Given the description of an element on the screen output the (x, y) to click on. 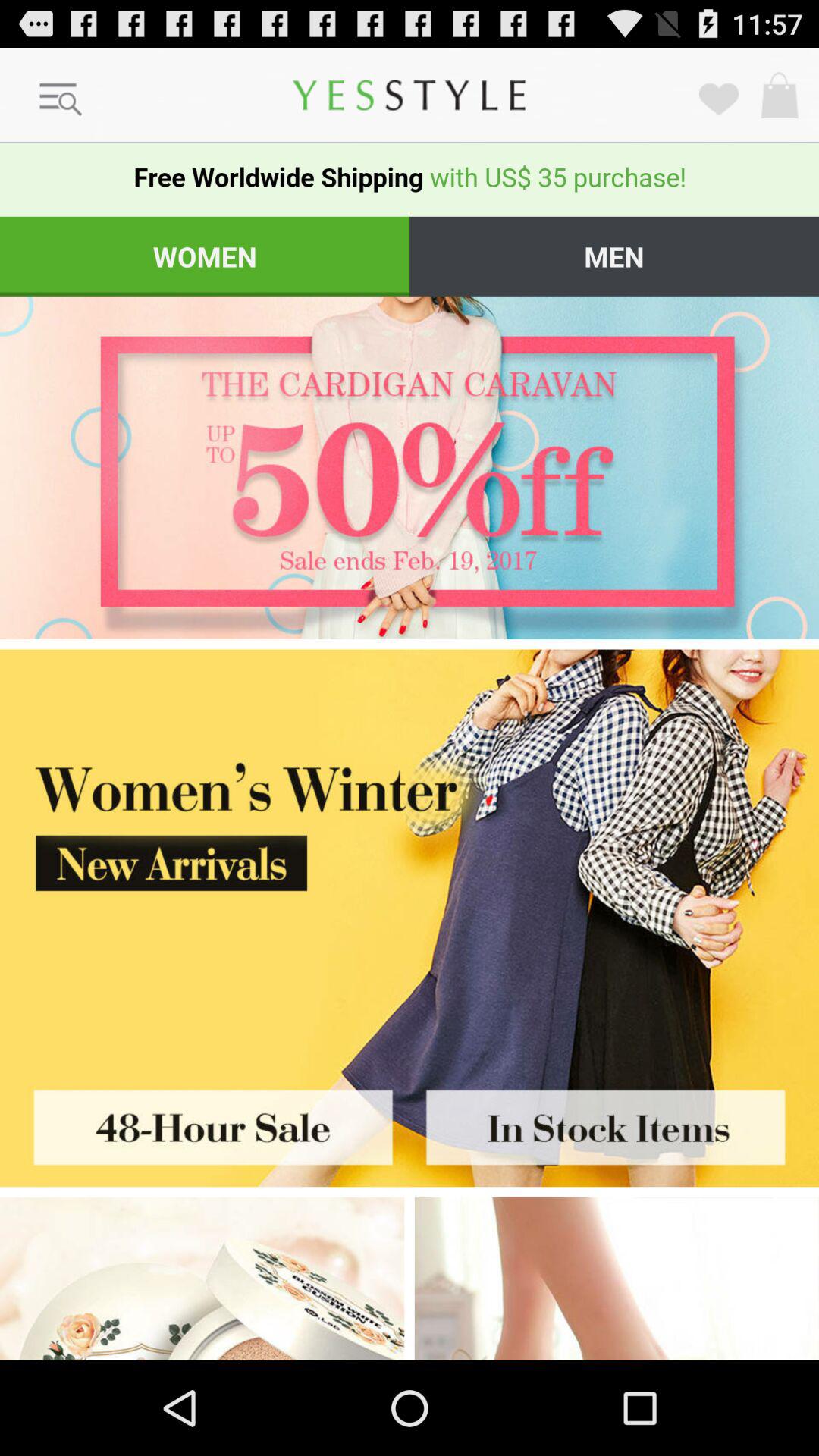
adiveristment (616, 1278)
